Given the description of an element on the screen output the (x, y) to click on. 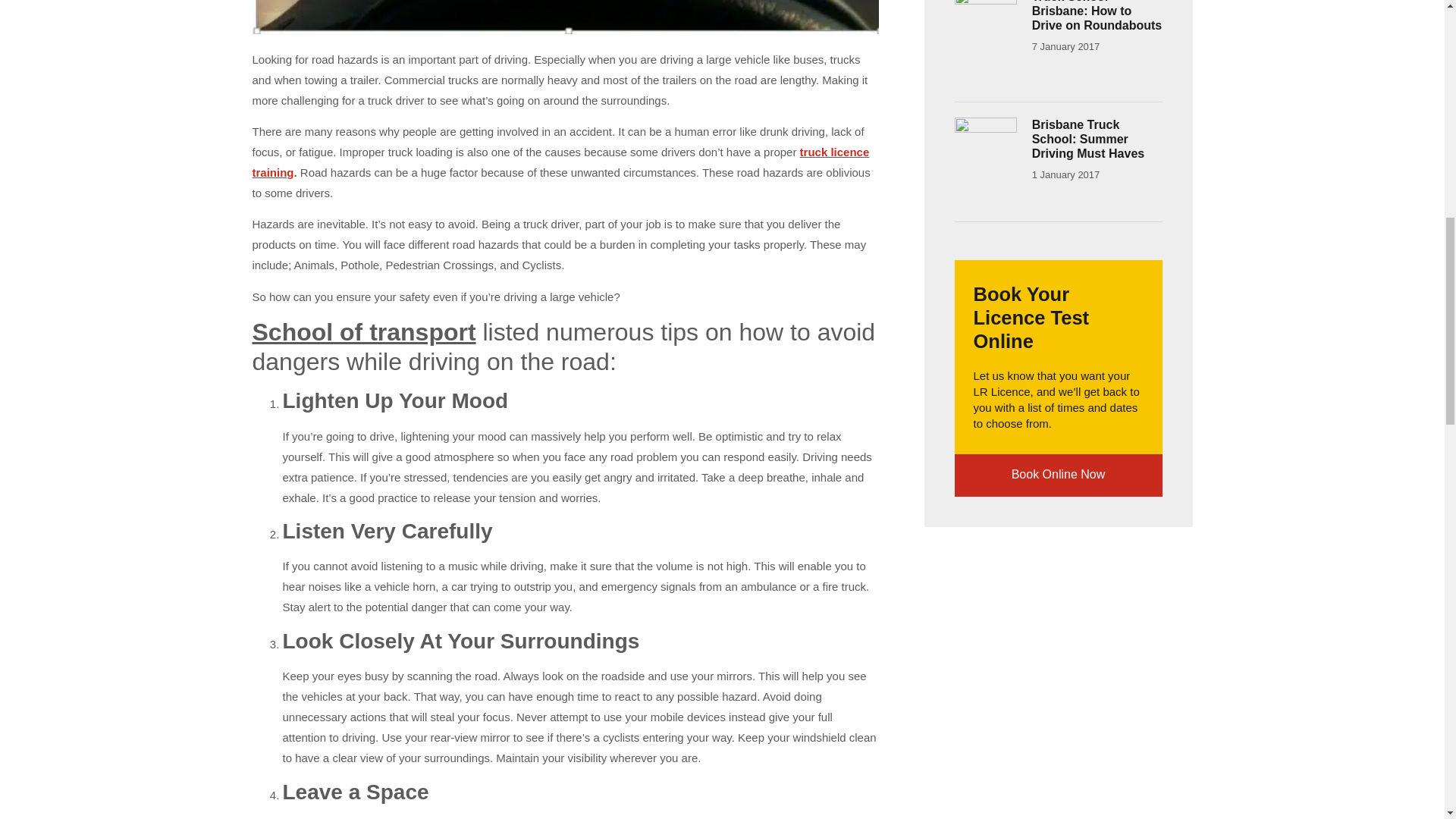
truck licence training (560, 162)
